Given the description of an element on the screen output the (x, y) to click on. 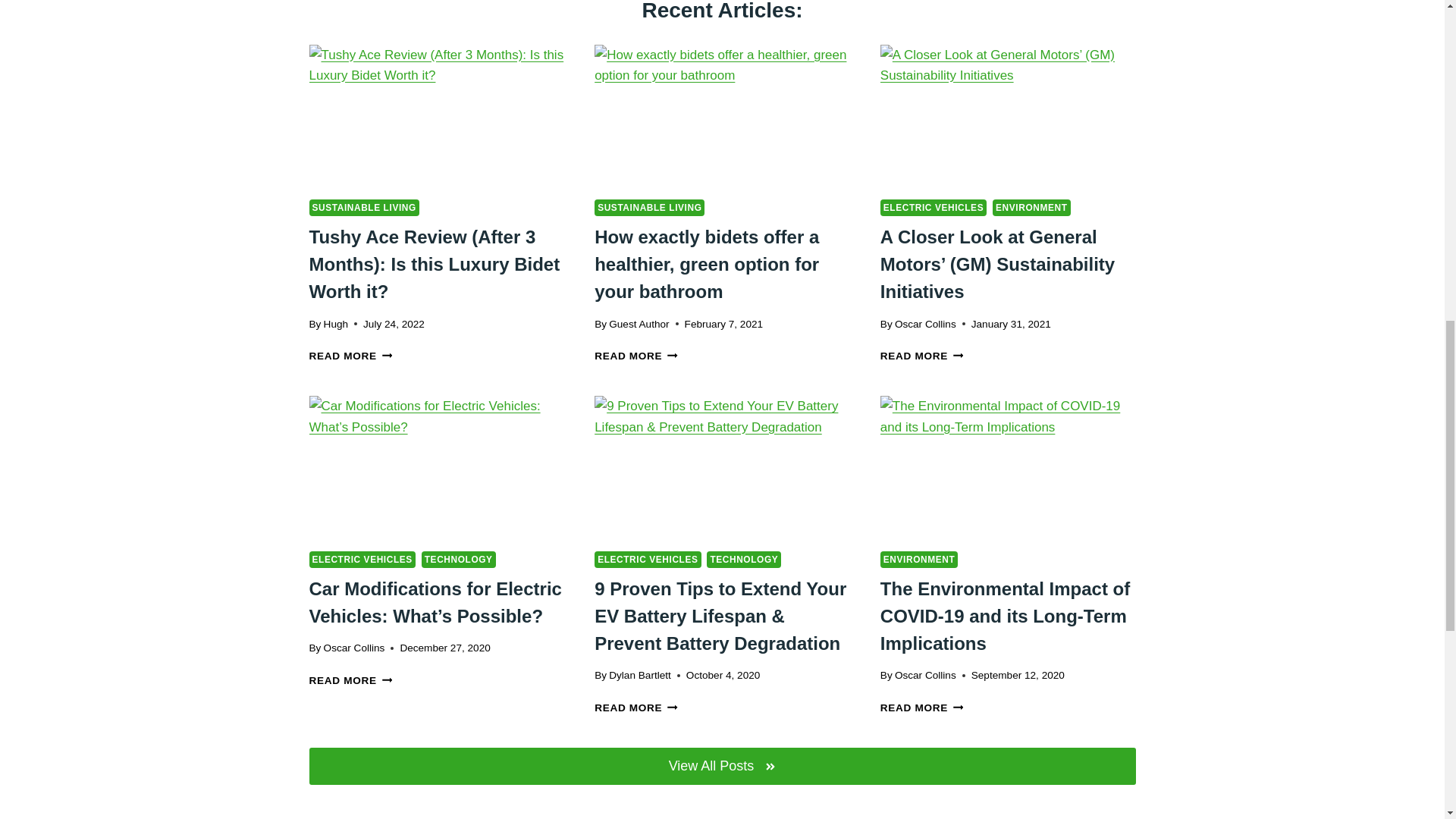
ELECTRIC VEHICLES (361, 559)
ELECTRIC VEHICLES (647, 559)
SUSTAINABLE LIVING (649, 207)
READ MORE (350, 355)
TECHNOLOGY (459, 559)
READ MORE (636, 355)
ENVIRONMENT (1031, 207)
SUSTAINABLE LIVING (363, 207)
ELECTRIC VEHICLES (933, 207)
READ MORE (350, 680)
READ MORE (921, 355)
